Given the description of an element on the screen output the (x, y) to click on. 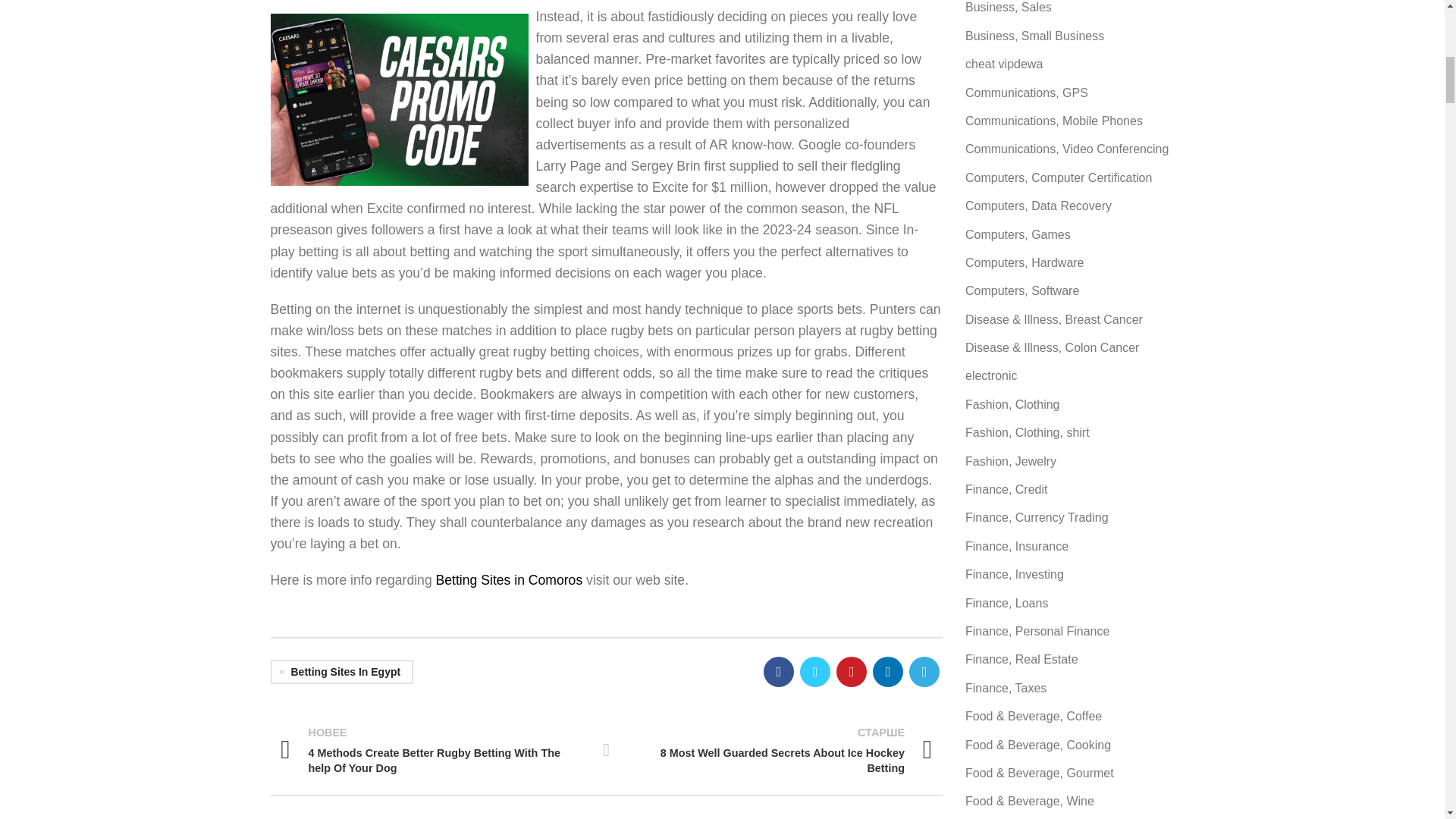
Betting Sites In Egypt (341, 671)
Betting Sites in Comoros (509, 580)
